Given the description of an element on the screen output the (x, y) to click on. 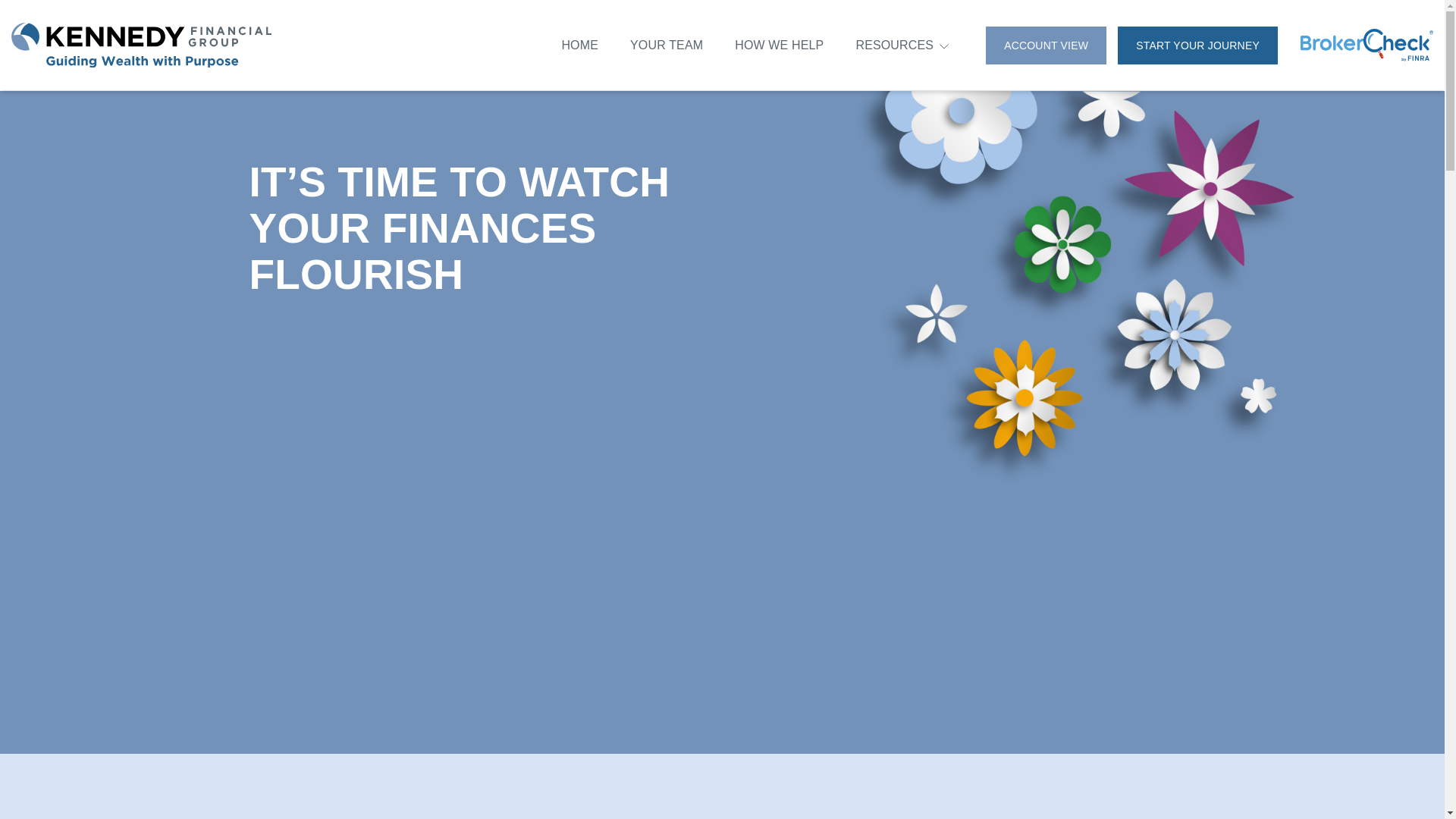
START YOUR JOURNEY (1198, 44)
ACCOUNT VIEW (1045, 44)
HOW WE HELP (779, 43)
RESOURCES (894, 45)
YOUR TEAM (666, 43)
HOME (579, 43)
